Given the description of an element on the screen output the (x, y) to click on. 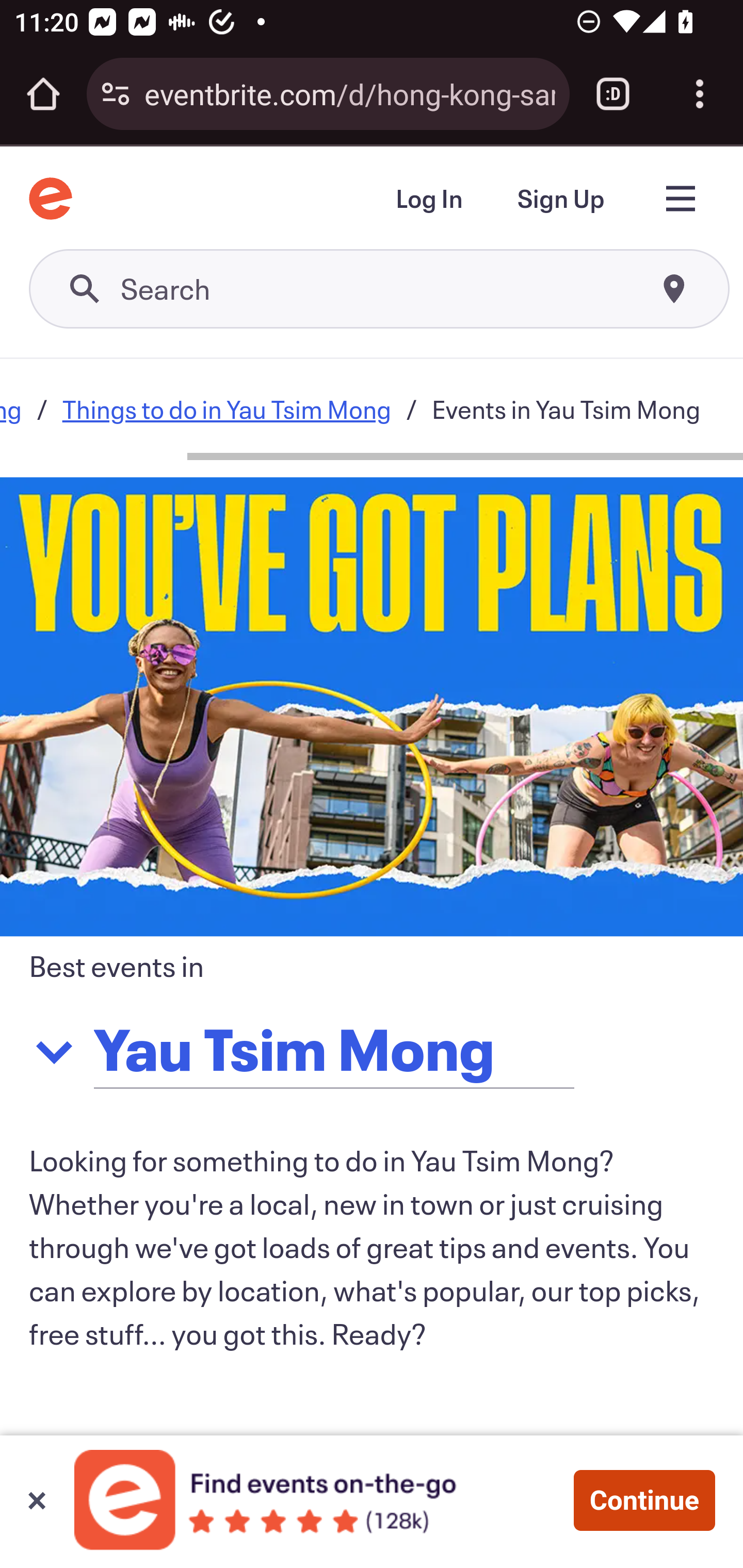
Open the home page (43, 93)
Connection is secure (115, 93)
Switch or close tabs (612, 93)
Customize and control Google Chrome (699, 93)
Log In (428, 199)
Sign Up (560, 199)
Home Eventbrite (50, 198)
Search (379, 289)
Hong Kong (11, 409)
Things to do in Yau Tsim Mong (226, 409)
Yau Tsim Mong (402, 1048)
